Given the description of an element on the screen output the (x, y) to click on. 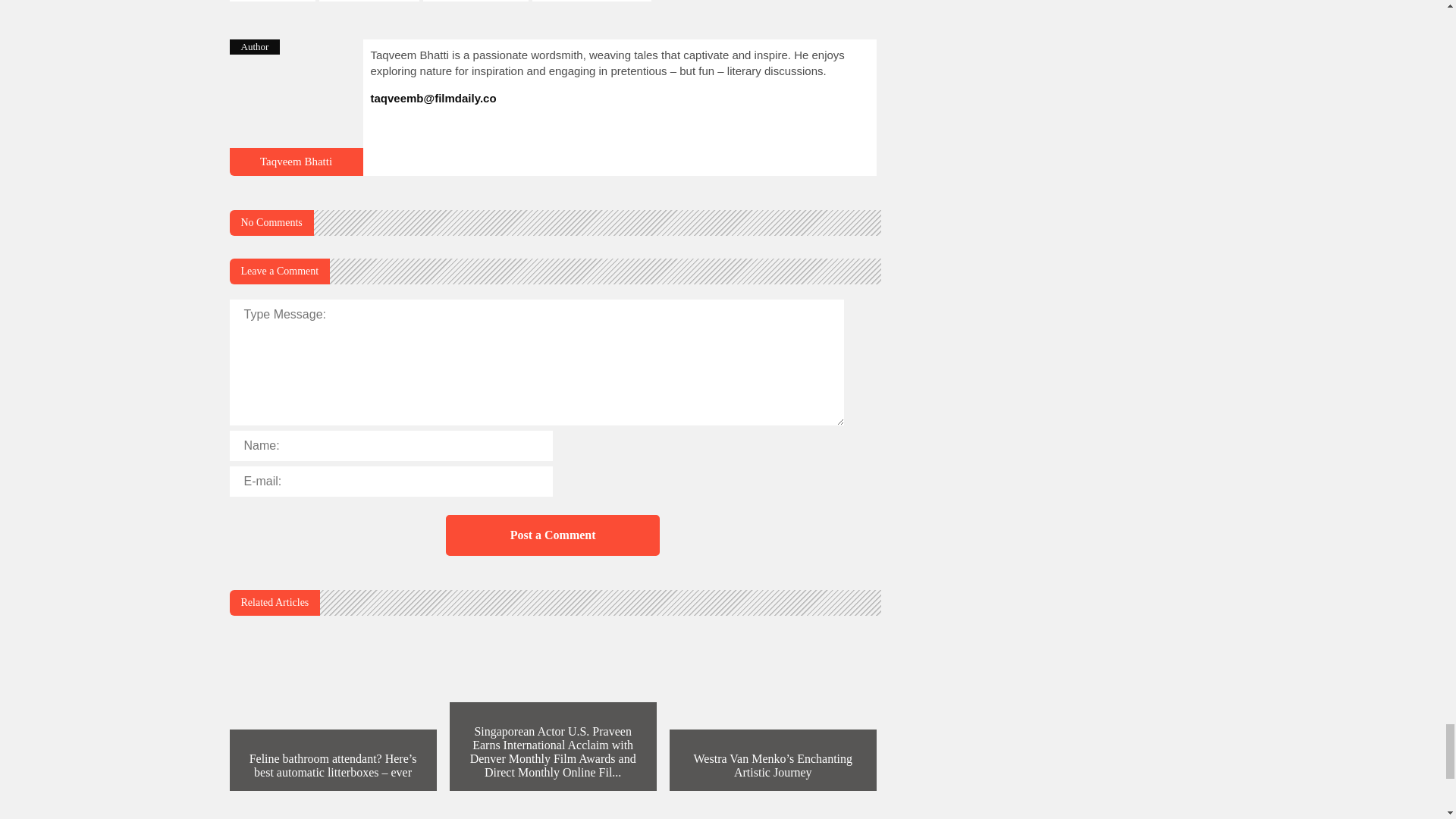
10 Great Ideas for Two-Tone Kitchen Cabinets (295, 168)
10 Great Ideas for Two-Tone Kitchen Cabinets (295, 161)
Post a Comment (552, 535)
